Given the description of an element on the screen output the (x, y) to click on. 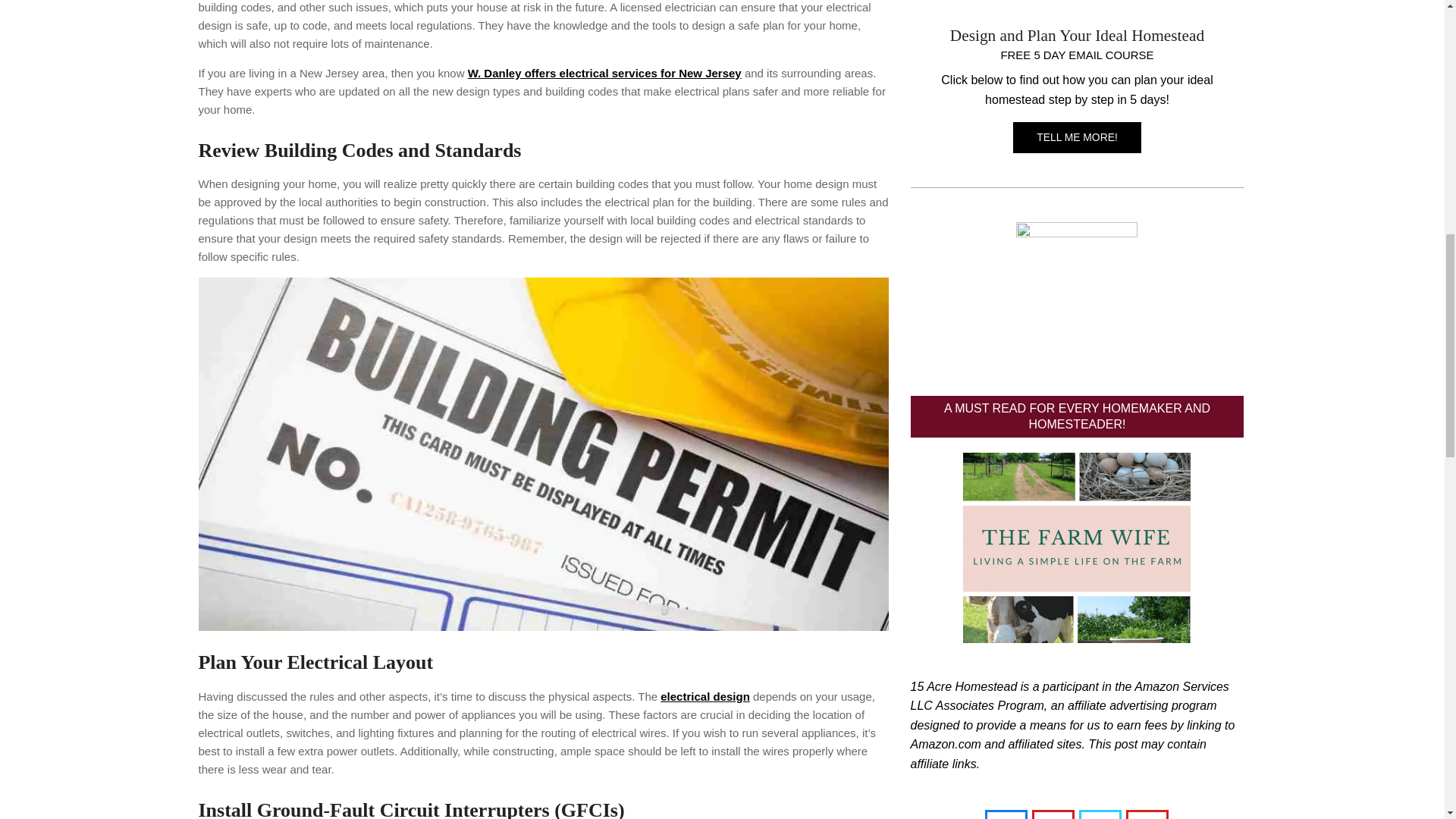
W. Danley offers electrical services for New Jersey (604, 72)
electrical design (705, 696)
A must read for every homemaker and homesteader! (1076, 547)
